Given the description of an element on the screen output the (x, y) to click on. 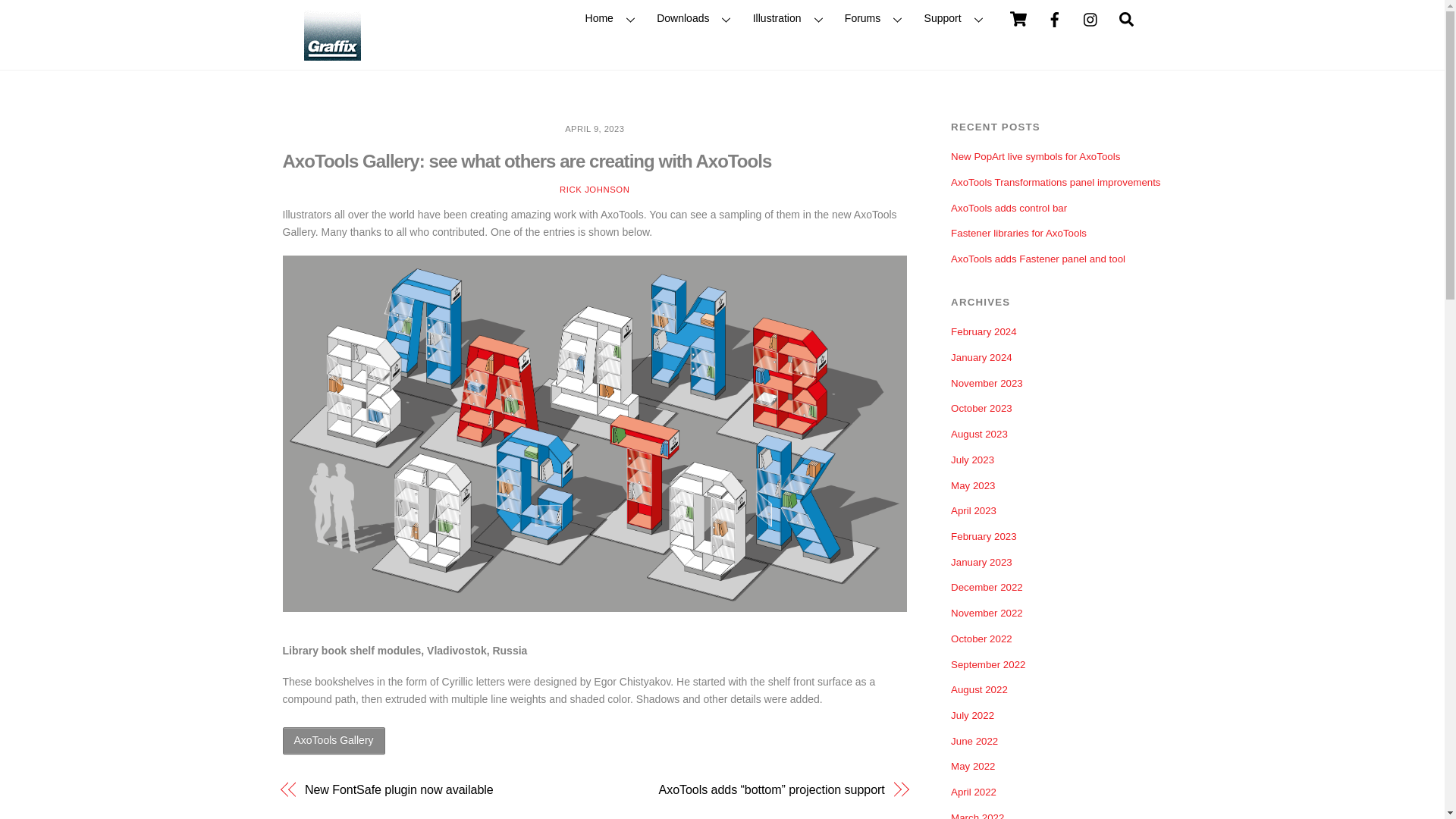
Illustration (721, 19)
Support (789, 19)
logo3 (955, 19)
rj-graffix (330, 32)
Forums (330, 54)
Search (876, 19)
Downloads (1126, 18)
Home (697, 19)
Cart (612, 19)
